Given the description of an element on the screen output the (x, y) to click on. 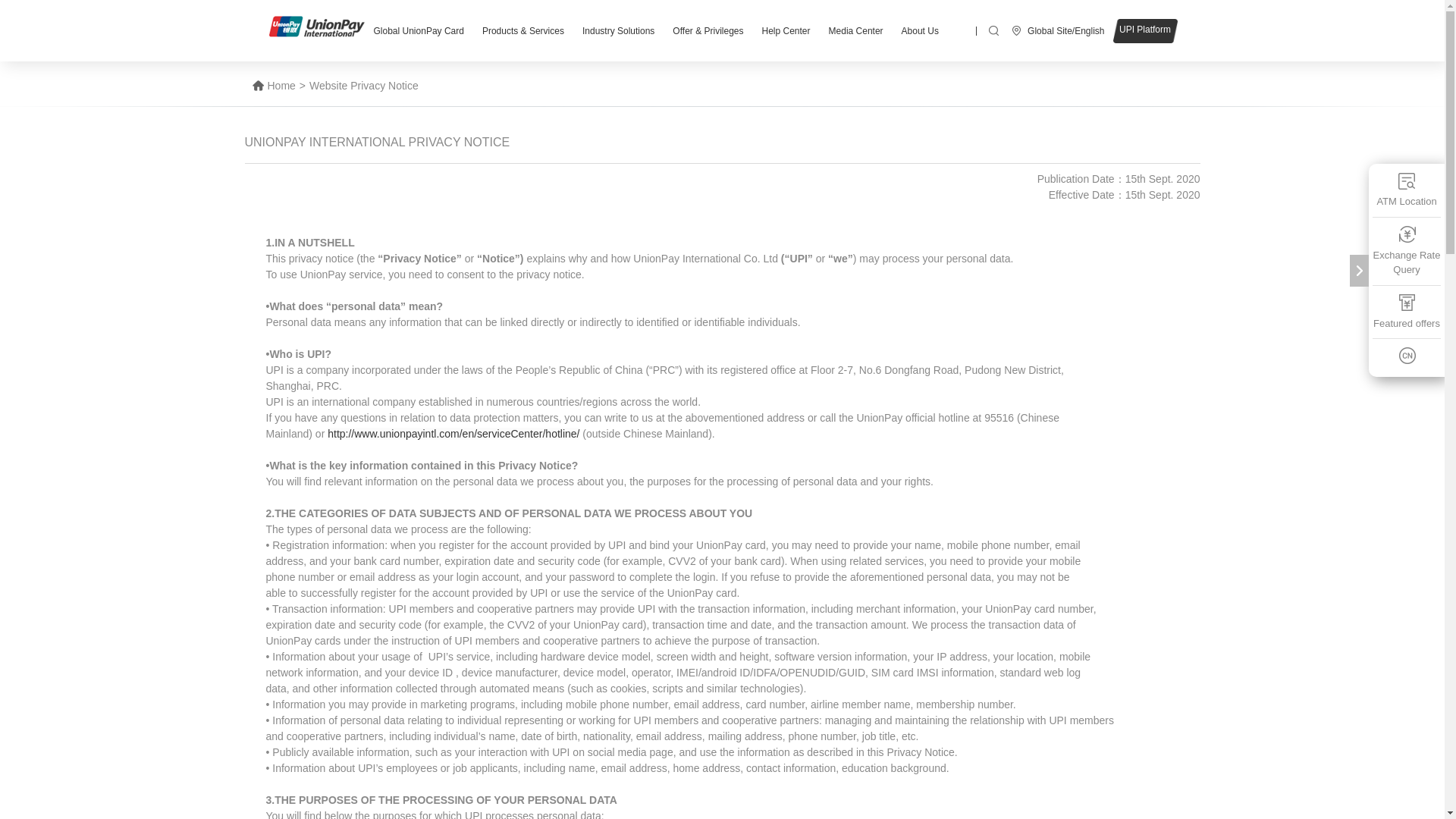
Global UnionPay Card (417, 30)
